Given the description of an element on the screen output the (x, y) to click on. 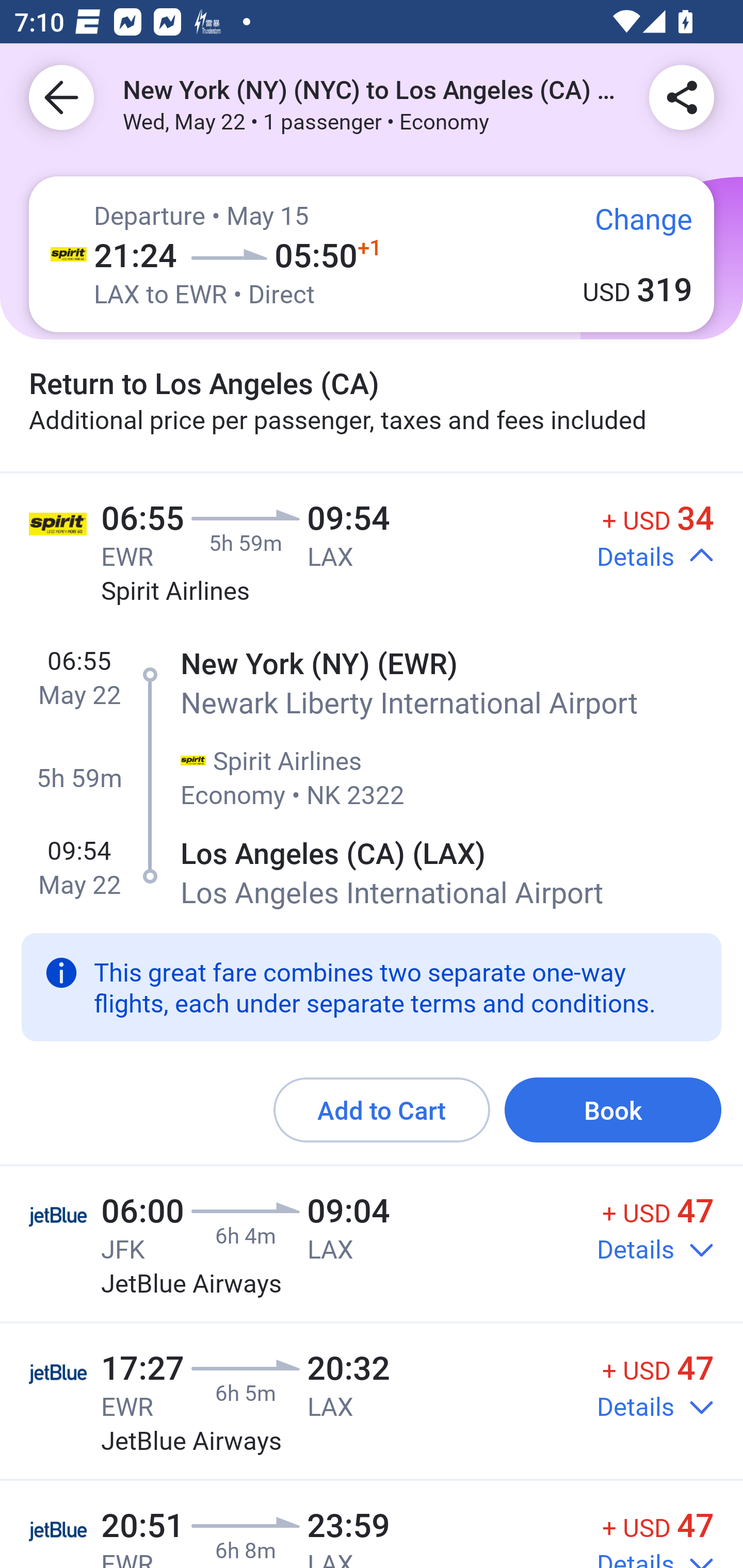
Change (629, 228)
Add to Cart (381, 1110)
Book (612, 1110)
